Given the description of an element on the screen output the (x, y) to click on. 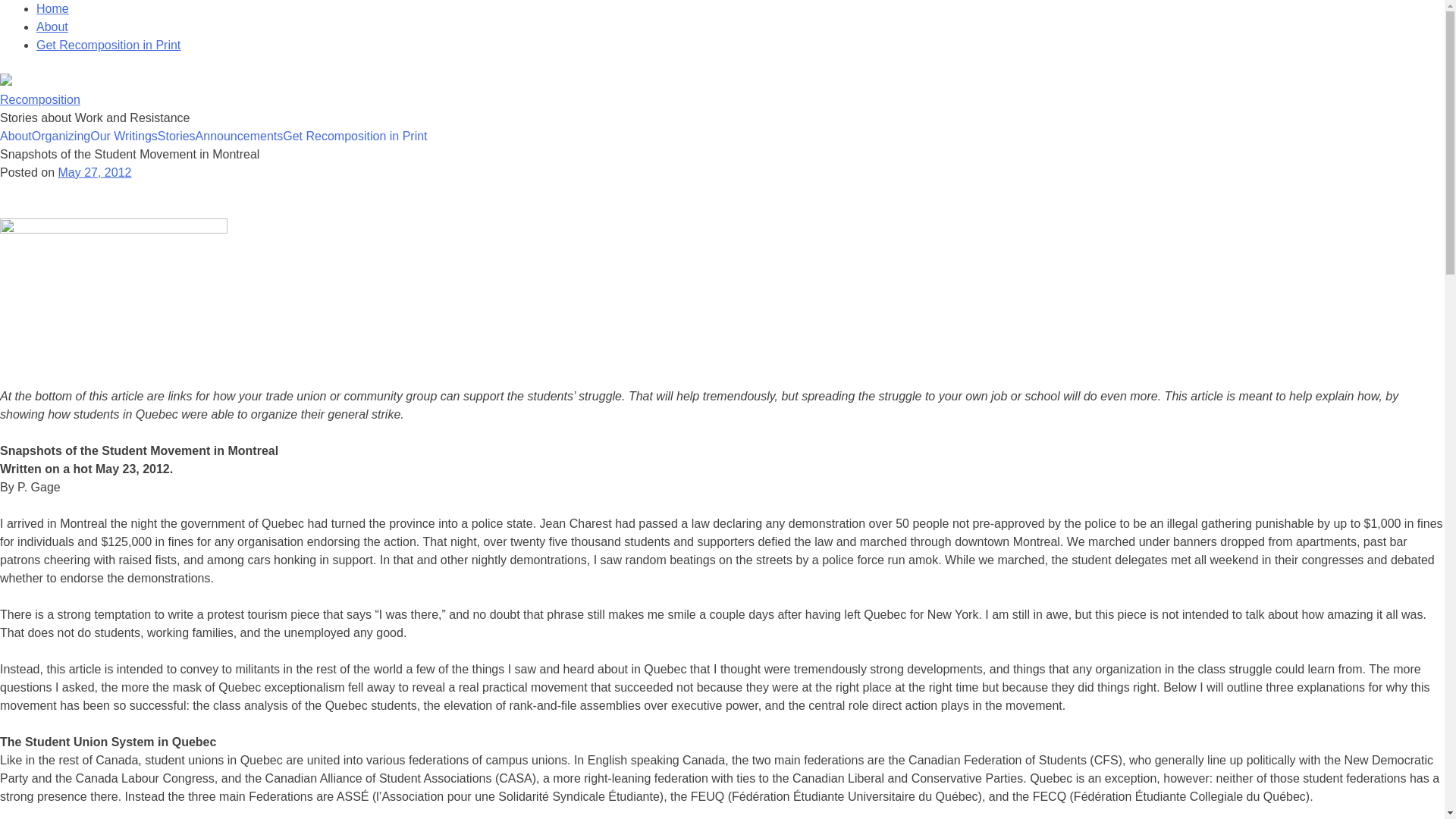
May 27, 2012 (94, 172)
Our Writings (123, 136)
About (52, 26)
Stories (176, 136)
About (16, 136)
Announcements (239, 136)
Get Recomposition in Print (108, 44)
Get Recomposition in Print (354, 136)
May 18 (113, 293)
Recomposition (40, 99)
Organizing (61, 136)
Home (52, 8)
